Given the description of an element on the screen output the (x, y) to click on. 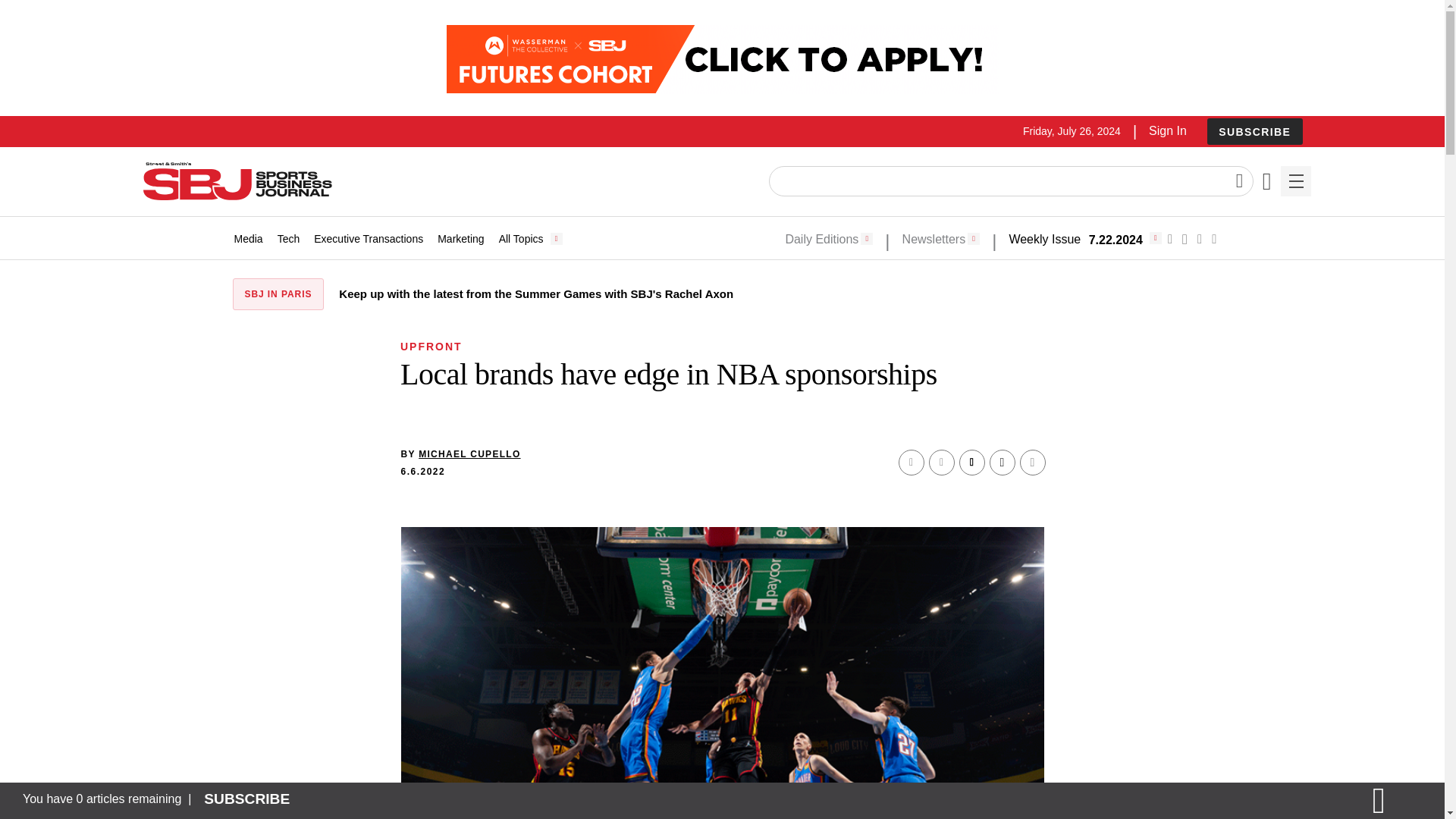
3rd party ad content (721, 59)
SIGN IN (1194, 415)
SUBSCRIBE (1255, 130)
SUBSCRIBE (1254, 131)
Sign In (1167, 131)
Menu (1294, 181)
